Given the description of an element on the screen output the (x, y) to click on. 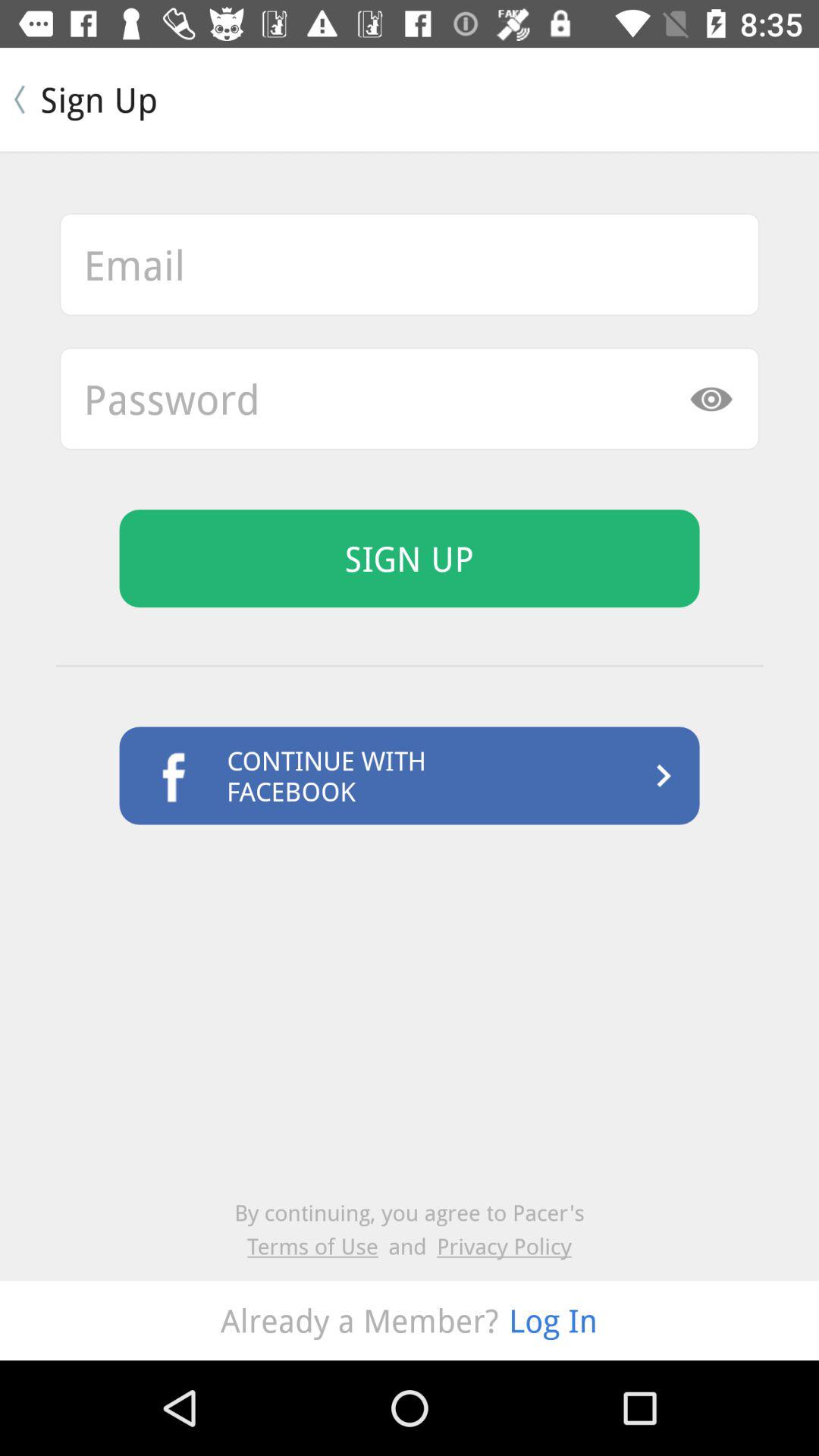
click item below by continuing you (503, 1245)
